Given the description of an element on the screen output the (x, y) to click on. 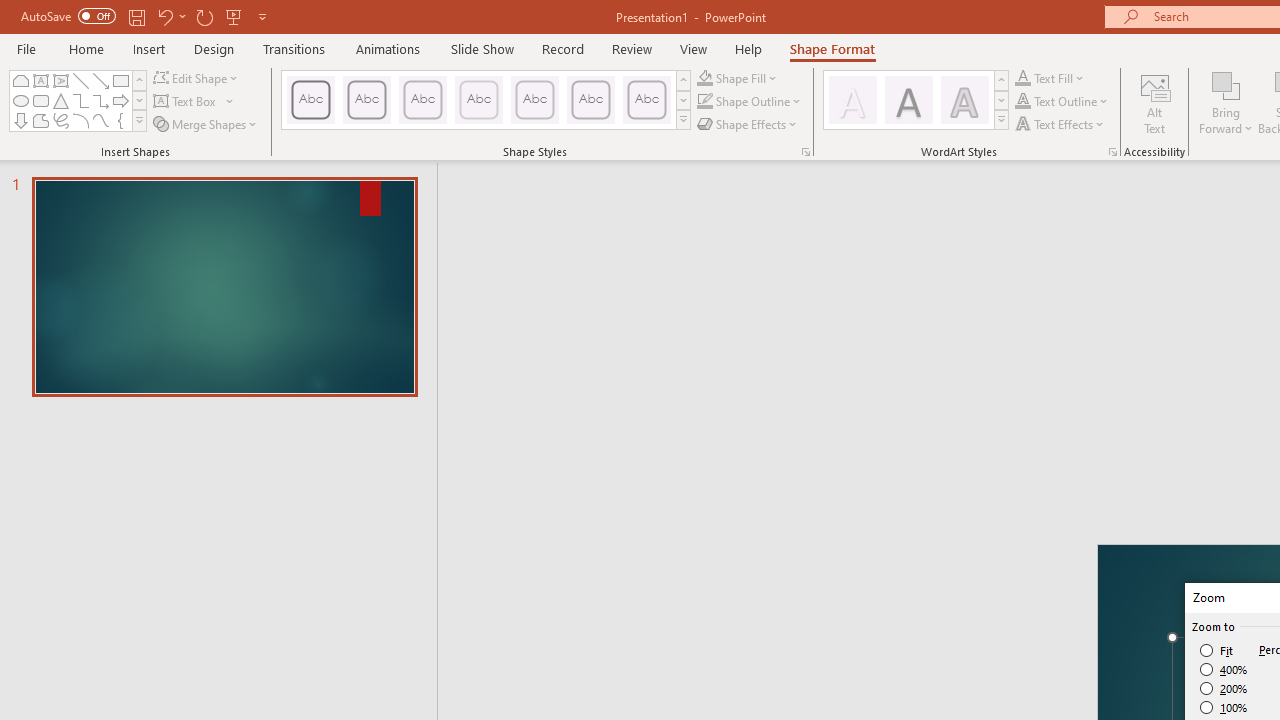
Alt Text (1155, 102)
Colored Outline - Purple, Accent 6 (646, 100)
AutomationID: ShapeStylesGallery (486, 99)
Text Effects (1061, 124)
Colored Outline - Green, Accent 4 (534, 100)
Shape Fill Orange, Accent 2 (704, 78)
Colored Outline - Gold, Accent 3 (478, 100)
